Given the description of an element on the screen output the (x, y) to click on. 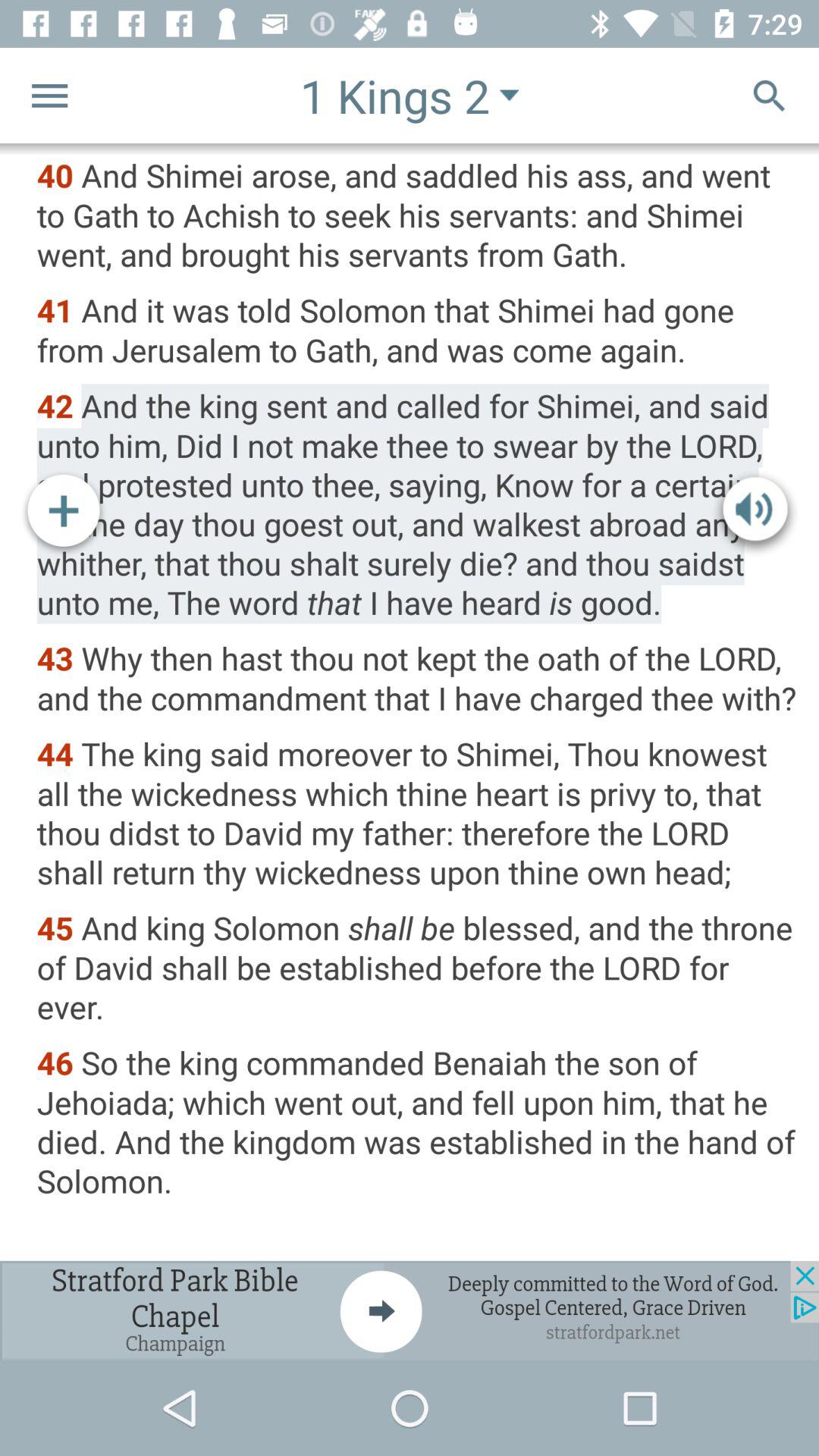
sound (755, 513)
